Given the description of an element on the screen output the (x, y) to click on. 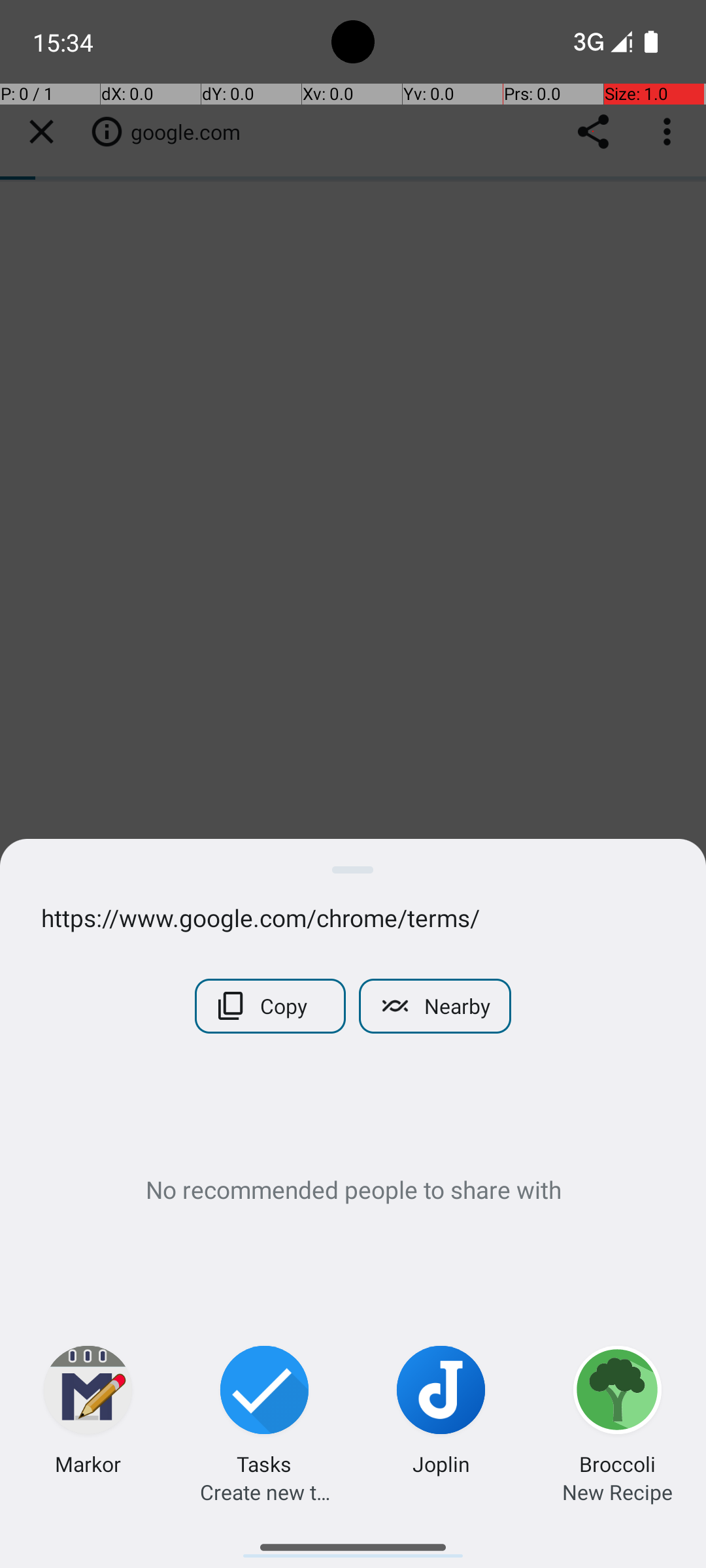
Apps list Element type: android.widget.ImageView (353, 1541)
https://www.google.com/chrome/terms/ Element type: android.widget.TextView (352, 917)
Copy Element type: android.widget.Button (269, 1005)
Nearby Element type: android.widget.Button (434, 1005)
No recommended people to share with Element type: android.widget.TextView (353, 1189)
Markor Element type: android.widget.TextView (87, 1463)
Tasks Element type: android.widget.TextView (264, 1463)
Create new task Element type: android.widget.TextView (264, 1491)
Joplin Element type: android.widget.TextView (441, 1463)
Broccoli Element type: android.widget.TextView (617, 1463)
New Recipe Element type: android.widget.TextView (617, 1491)
